Given the description of an element on the screen output the (x, y) to click on. 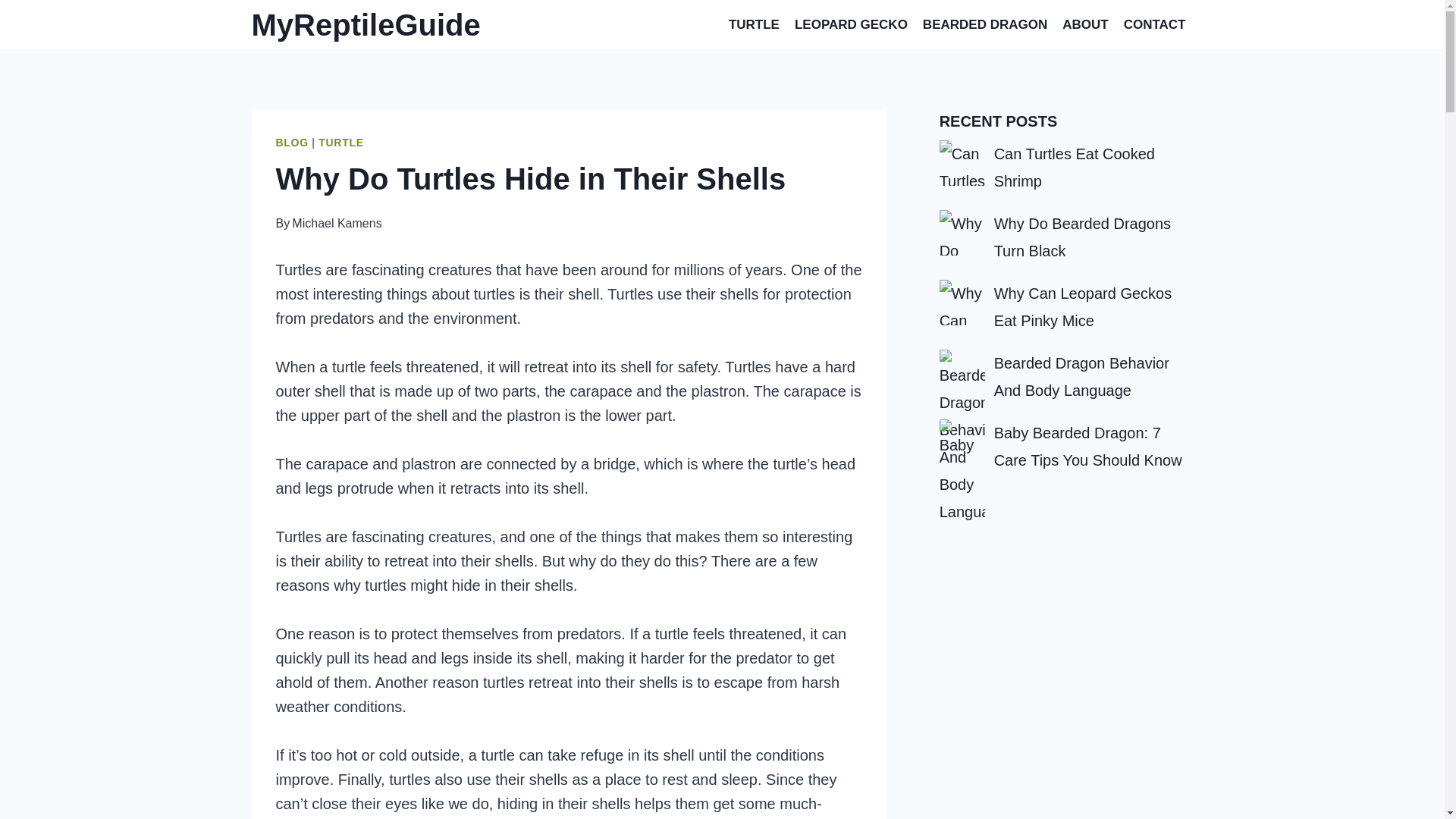
62911a4a66024a6491b43a6ae9f35b4b (962, 302)
Can Turtles Eat Cooked Shrimp (1074, 167)
TURTLE (753, 24)
ABOUT (1084, 24)
Michael Kamens (336, 223)
de48c9f2f69142a3b54a2d35261d190c (962, 232)
f128b84bbda540a583edcb92cfe10116 (962, 162)
TURTLE (340, 142)
e778d34ea84e46738e70cdd8e29628bf (962, 442)
BEARDED DRAGON (984, 24)
BLOG (292, 142)
Baby Bearded Dragon: 7 Care Tips You Should Know (1088, 446)
CONTACT (1154, 24)
Why Do Bearded Dragons Turn Black (1082, 237)
MyReptileGuide (365, 23)
